Given the description of an element on the screen output the (x, y) to click on. 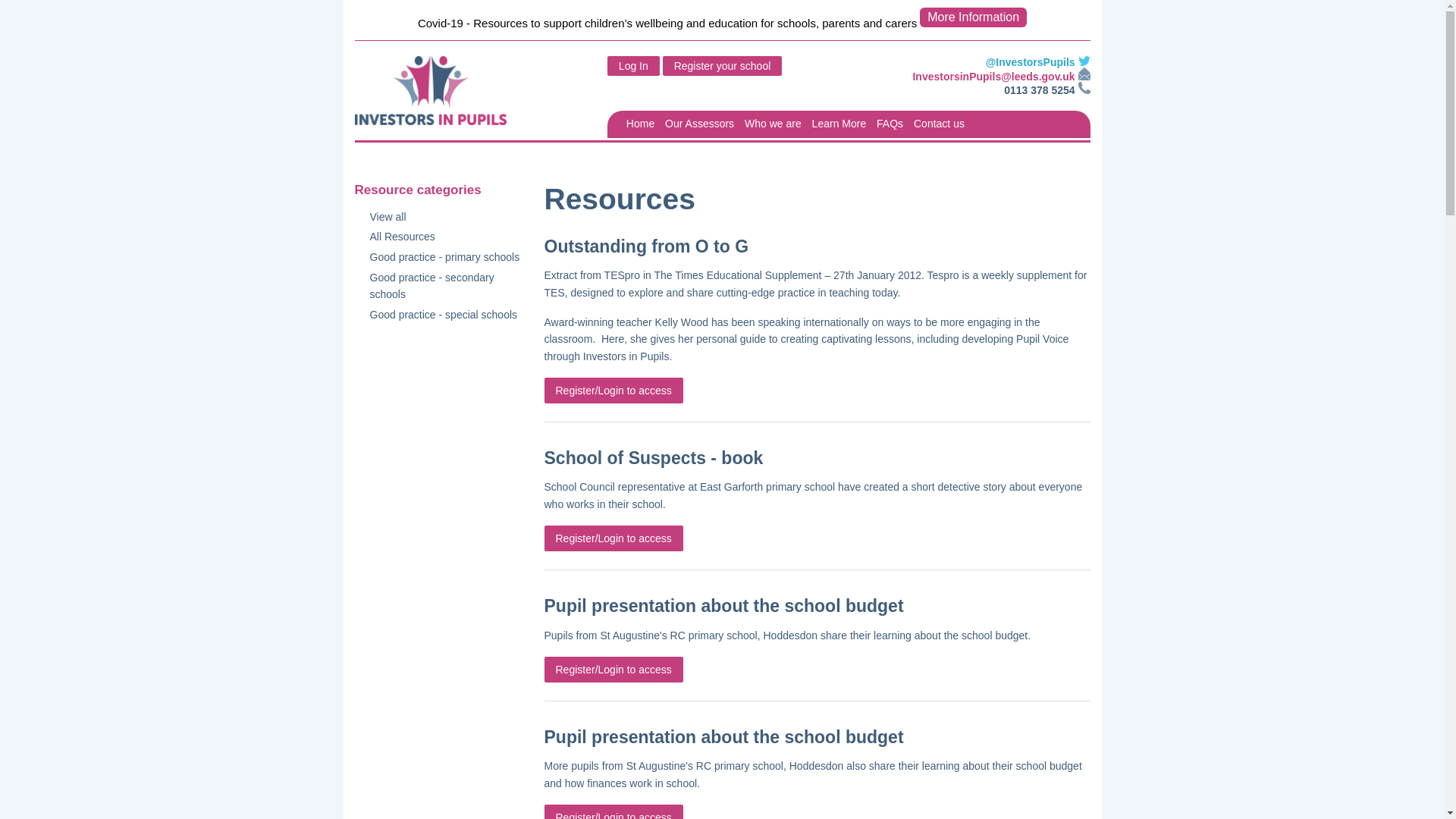
Register your school (722, 66)
Home (640, 123)
Learn More (839, 123)
All Resources (445, 236)
Good practice - secondary schools (445, 286)
Log In (633, 66)
More Information (973, 17)
Good practice - primary schools (445, 256)
Contact us (939, 123)
Good practice - special schools (445, 314)
